Given the description of an element on the screen output the (x, y) to click on. 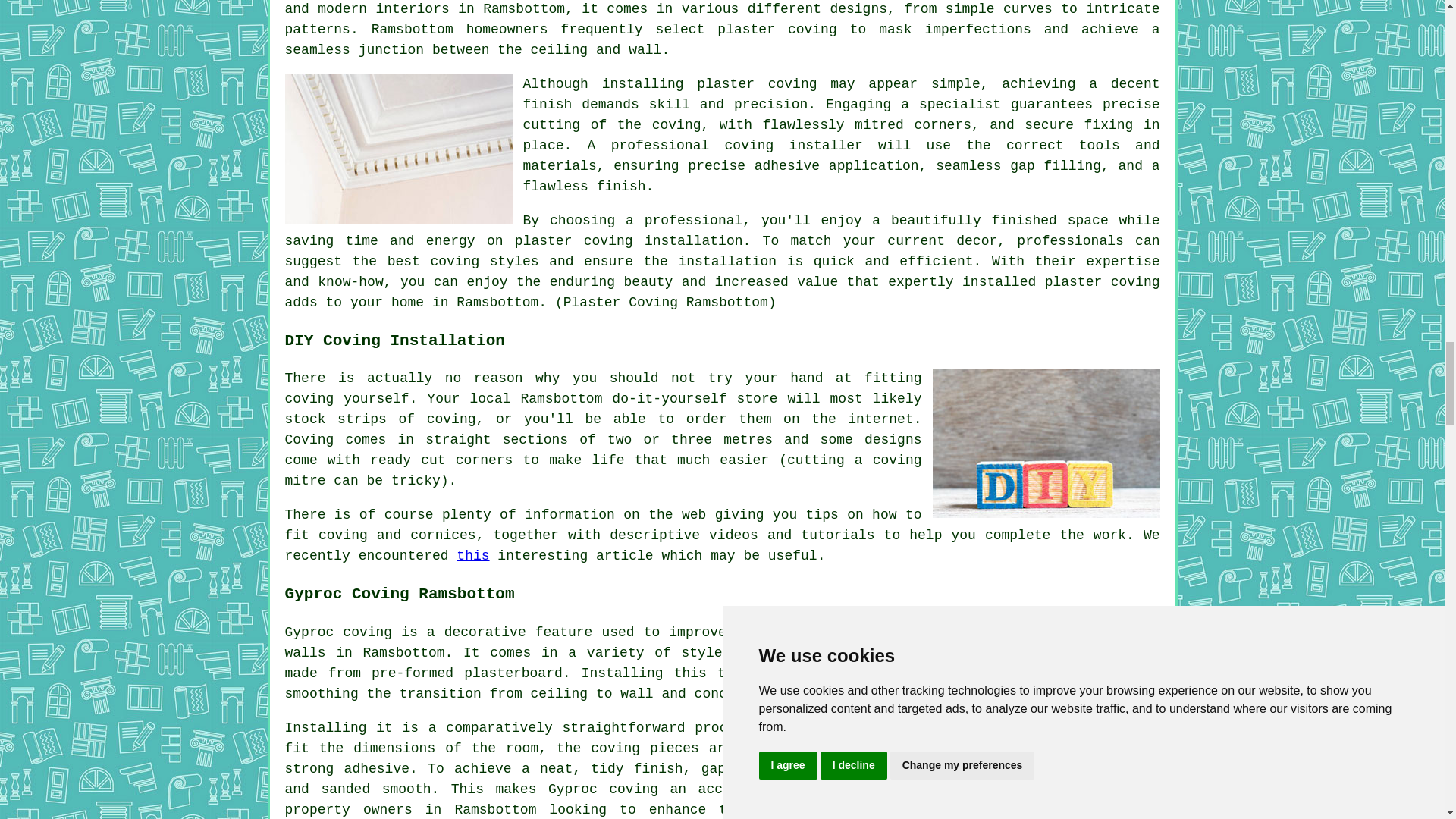
Plaster Coving Installation Ramsbottom (398, 148)
Gyproc Coving Ramsbottom (1046, 768)
coving (812, 672)
Gyproc coving (603, 789)
DIY Coving Ramsbottom (1046, 442)
